Given the description of an element on the screen output the (x, y) to click on. 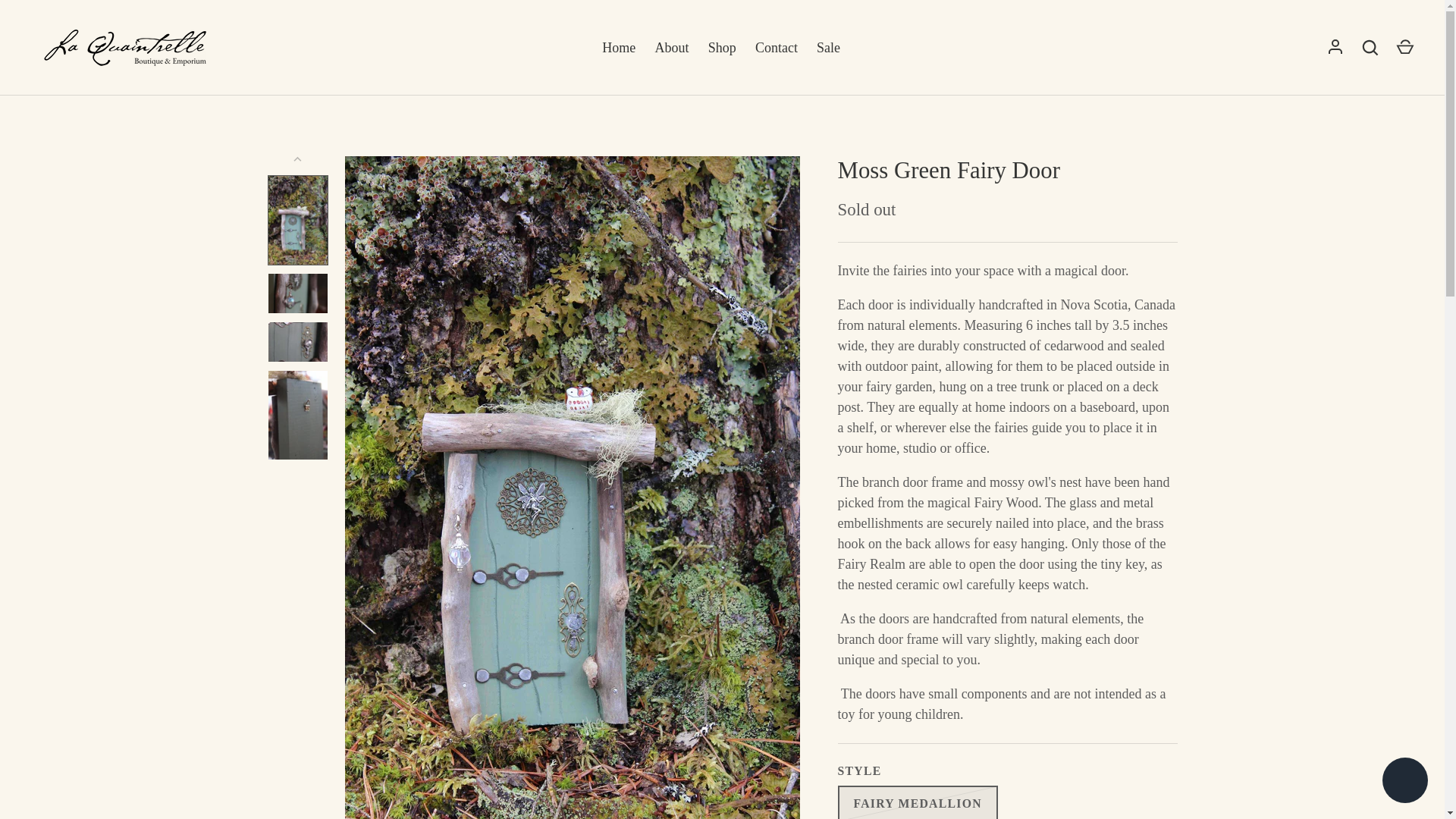
Sale (827, 47)
Sold out (917, 802)
About (671, 47)
Shopify online store chat (1404, 781)
Shop (721, 47)
Contact (775, 47)
Home (618, 47)
